Given the description of an element on the screen output the (x, y) to click on. 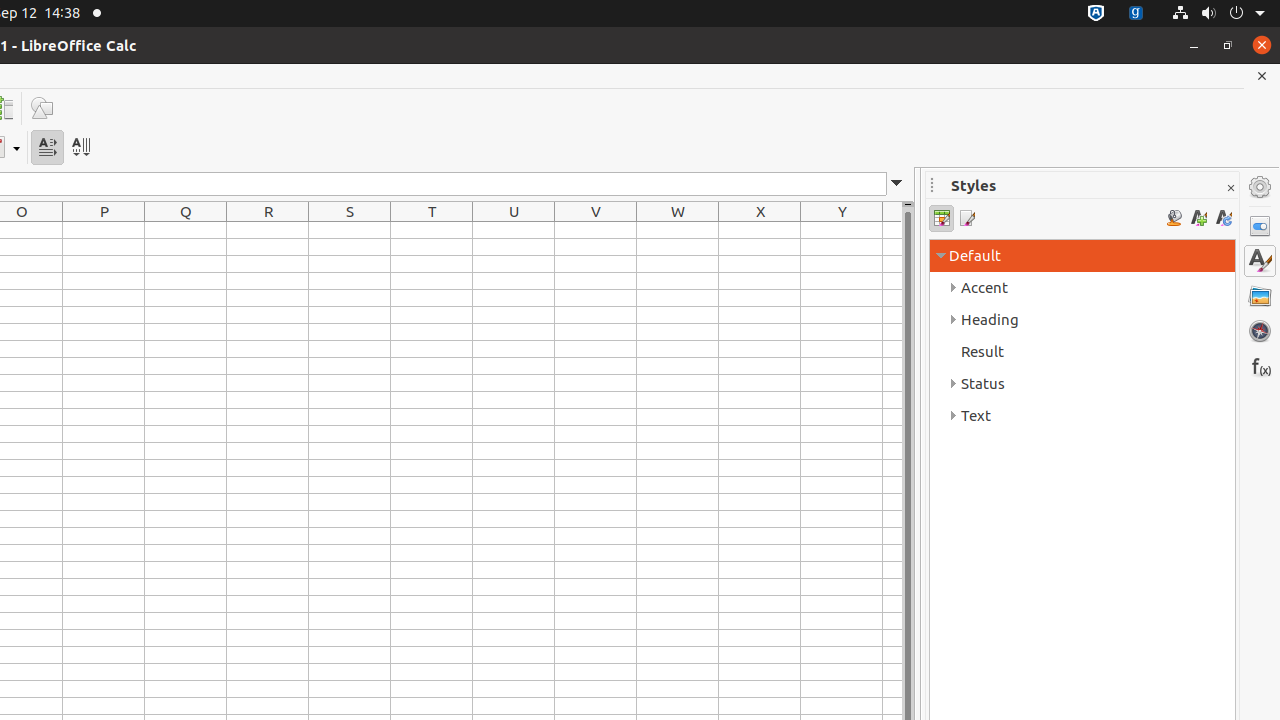
Gallery Element type: radio-button (1260, 296)
U1 Element type: table-cell (514, 230)
Text direction from top to bottom Element type: toggle-button (80, 147)
System Element type: menu (1218, 13)
Fill Format Mode Element type: push-button (1173, 218)
